Given the description of an element on the screen output the (x, y) to click on. 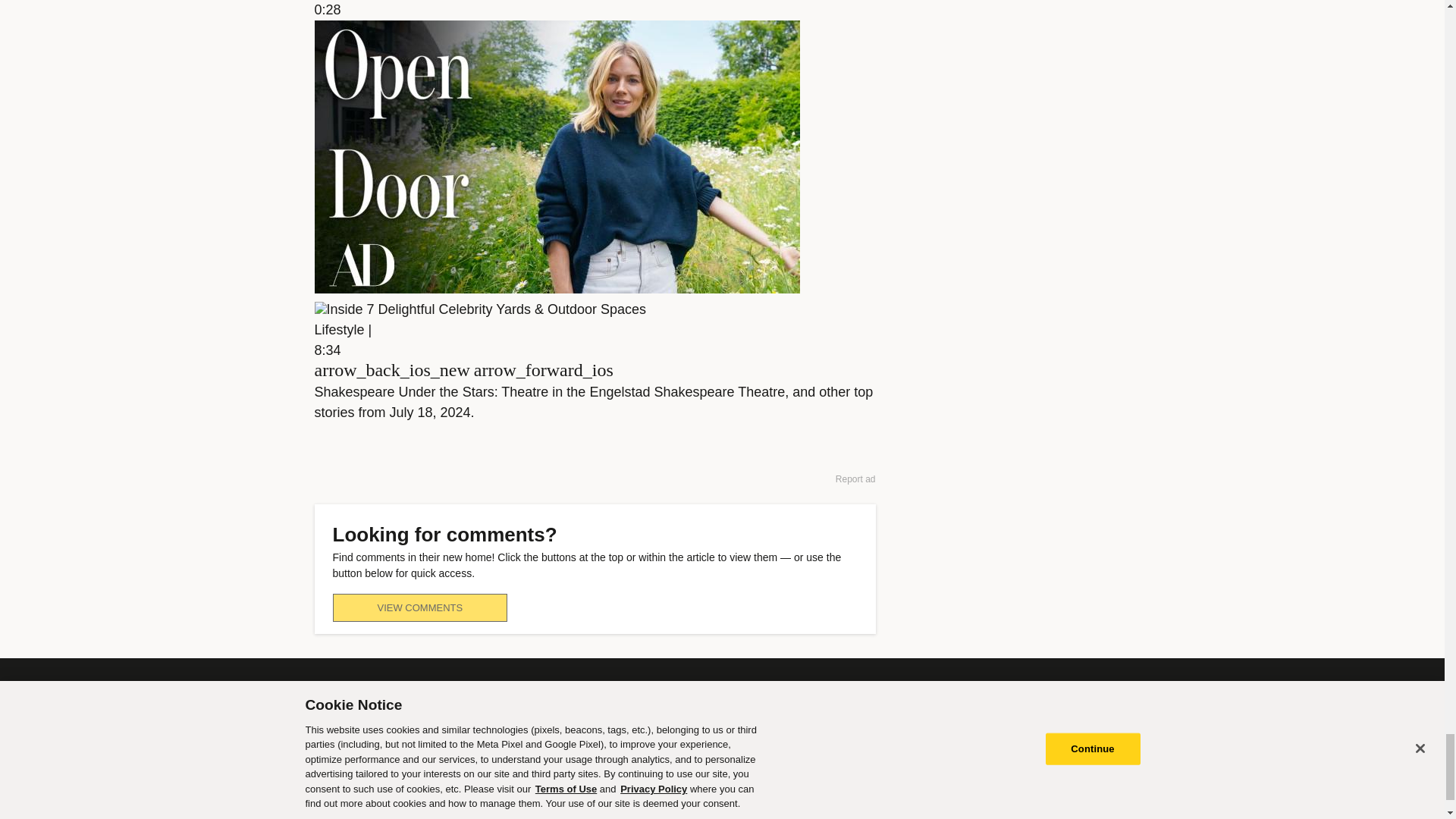
Report ad (855, 479)
VIEW COMMENTS (418, 607)
